Given the description of an element on the screen output the (x, y) to click on. 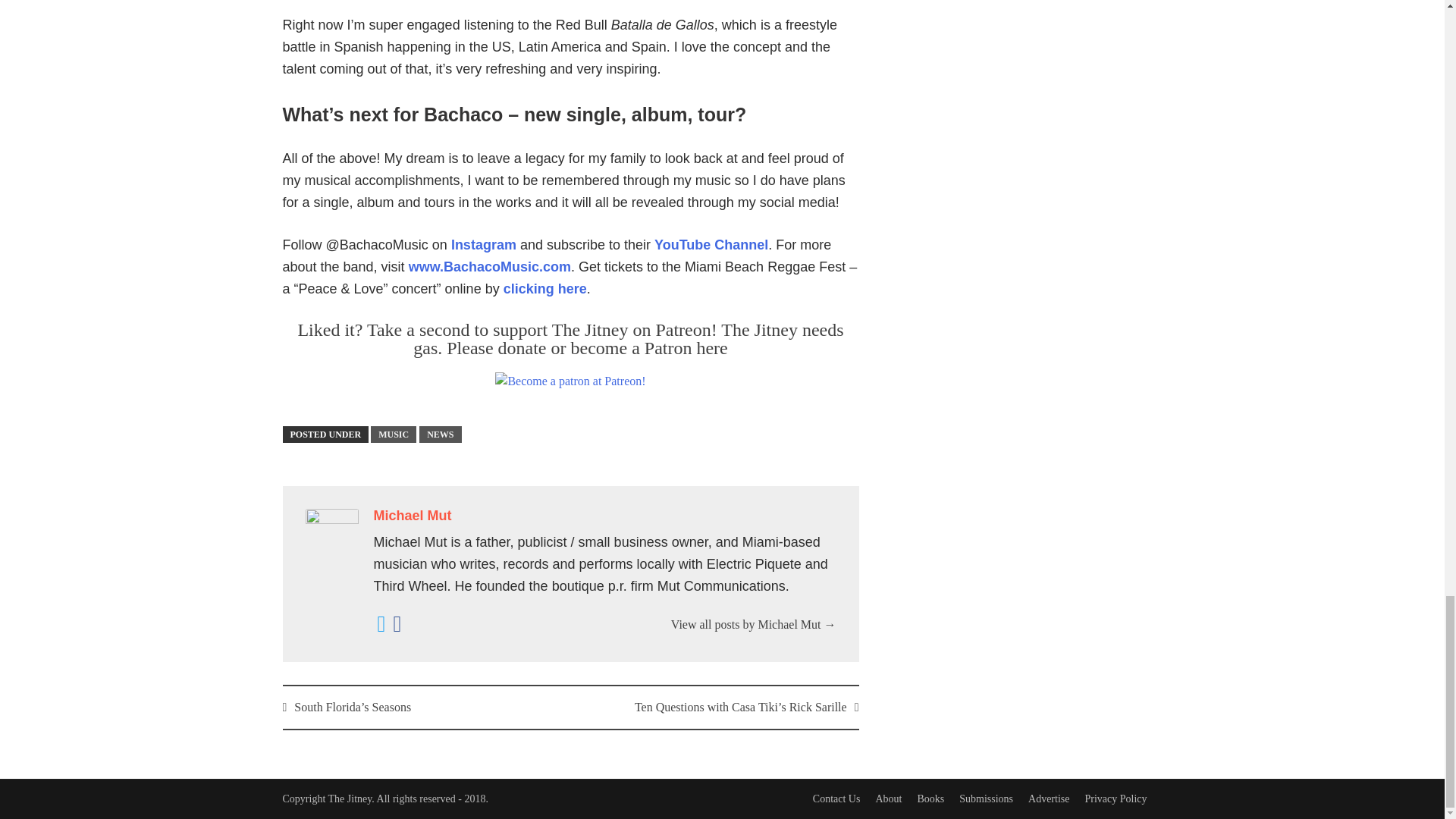
About (888, 798)
Advertise (1047, 798)
Contact Us (836, 798)
www.BachacoMusic.com (489, 266)
NEWS (440, 434)
clicking here (544, 288)
Books (930, 798)
Submissions (986, 798)
YouTube Channel (710, 244)
Instagram (483, 244)
MUSIC (393, 434)
